Given the description of an element on the screen output the (x, y) to click on. 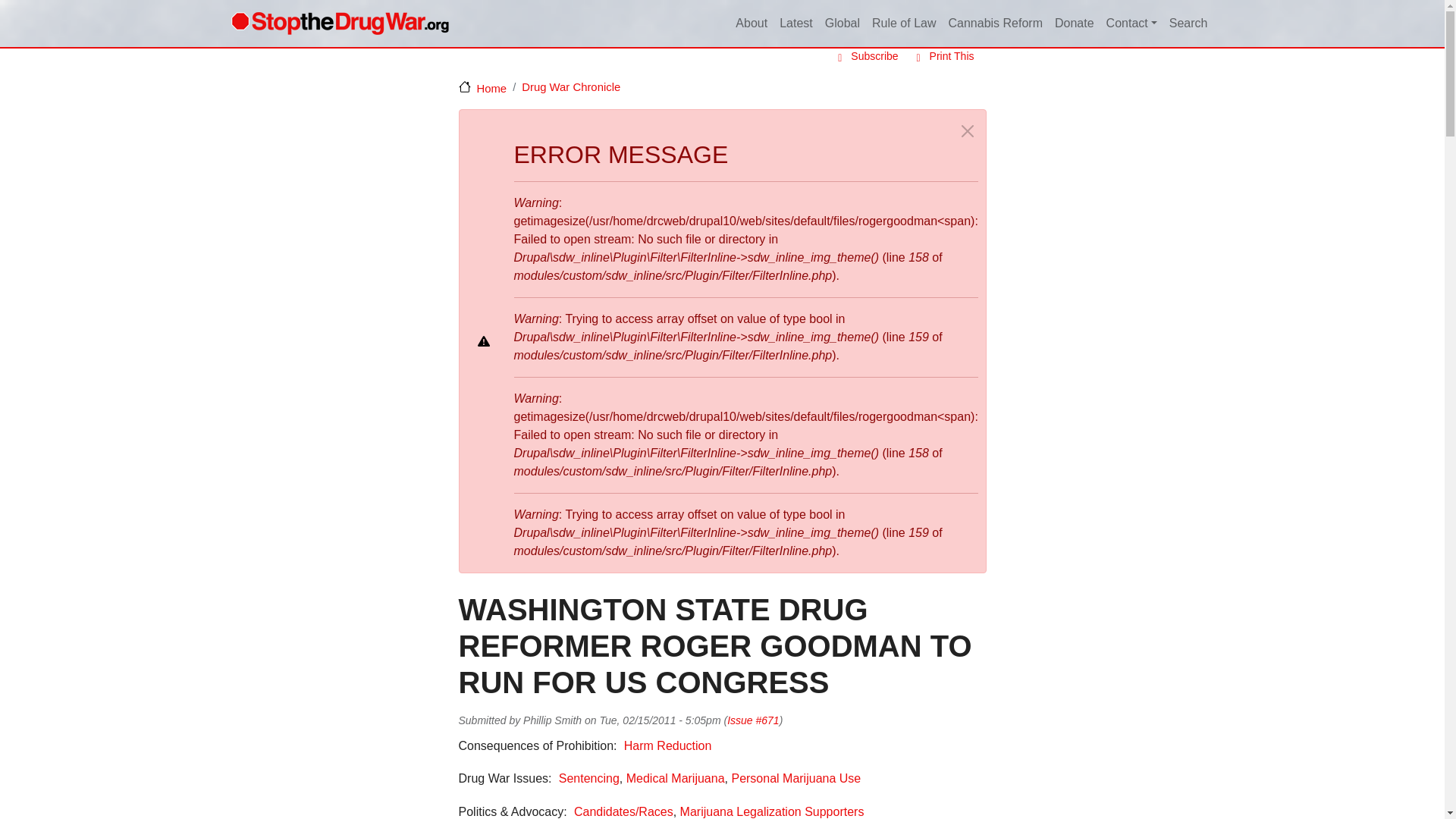
Search (1188, 23)
Subscribe (864, 55)
About (751, 23)
Contact (1131, 23)
Share to Reddit (932, 720)
Home (339, 23)
Tuesday, February 15, 2011 - 5:05pm (659, 720)
Share to Facebook (890, 720)
Please Support Our Work (1074, 23)
Latest (795, 23)
Share to Email (953, 720)
Rule of Law (904, 23)
Share to Linkedin (911, 720)
Cannabis Reform (995, 23)
Print This (942, 55)
